Given the description of an element on the screen output the (x, y) to click on. 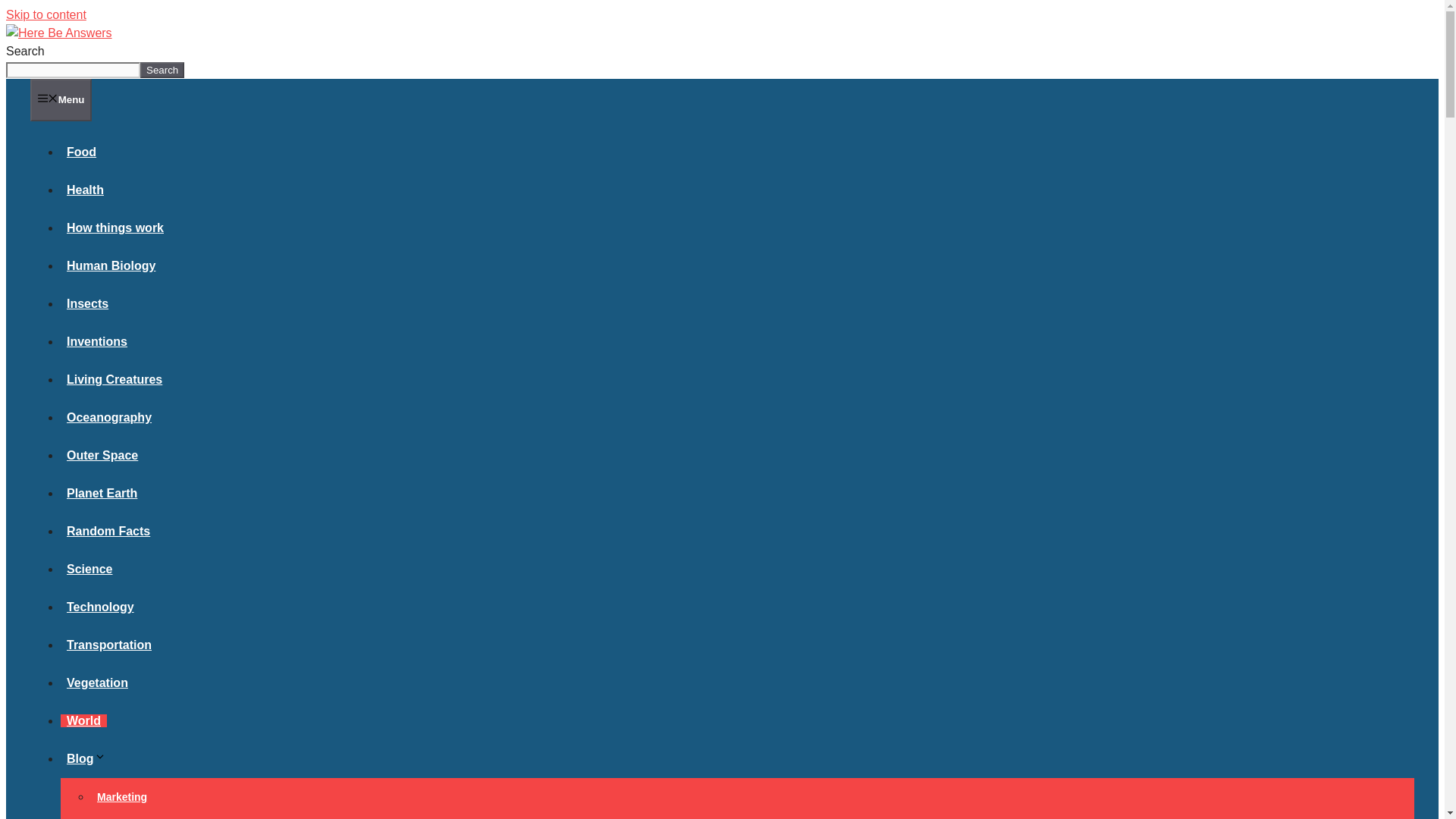
How things work (115, 227)
Vegetation (97, 682)
Inventions (97, 341)
Outer Space (102, 454)
Menu (60, 99)
World (83, 720)
Living Creatures (114, 379)
Health (85, 189)
Science (89, 568)
Oceanography (109, 417)
Random Facts (108, 530)
Insects (88, 303)
Technology (100, 606)
Human Biology (111, 265)
Blog (89, 758)
